Given the description of an element on the screen output the (x, y) to click on. 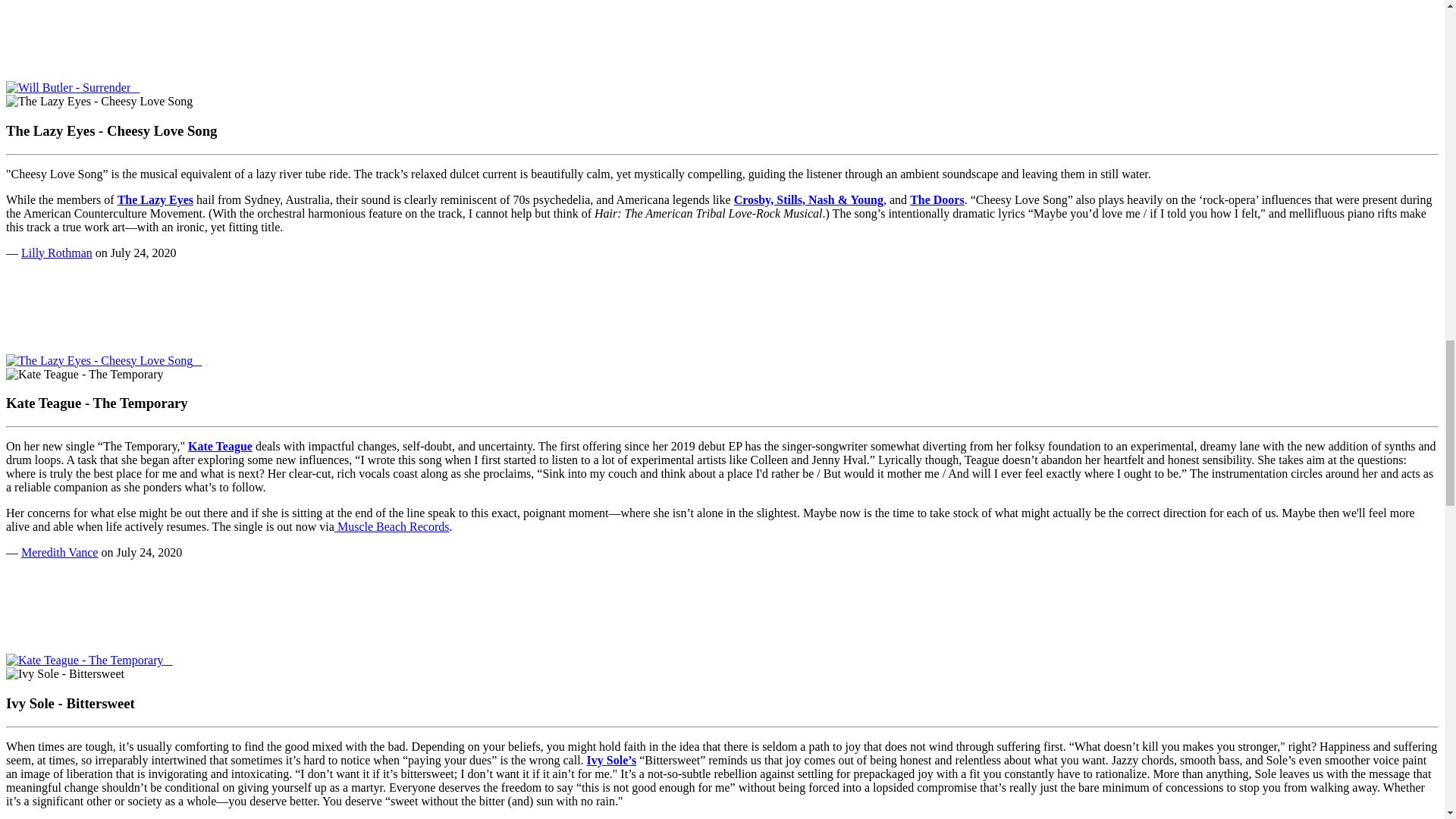
The Lazy Eyes (155, 199)
The Doors (936, 199)
Lilly Rothman (57, 252)
